Given the description of an element on the screen output the (x, y) to click on. 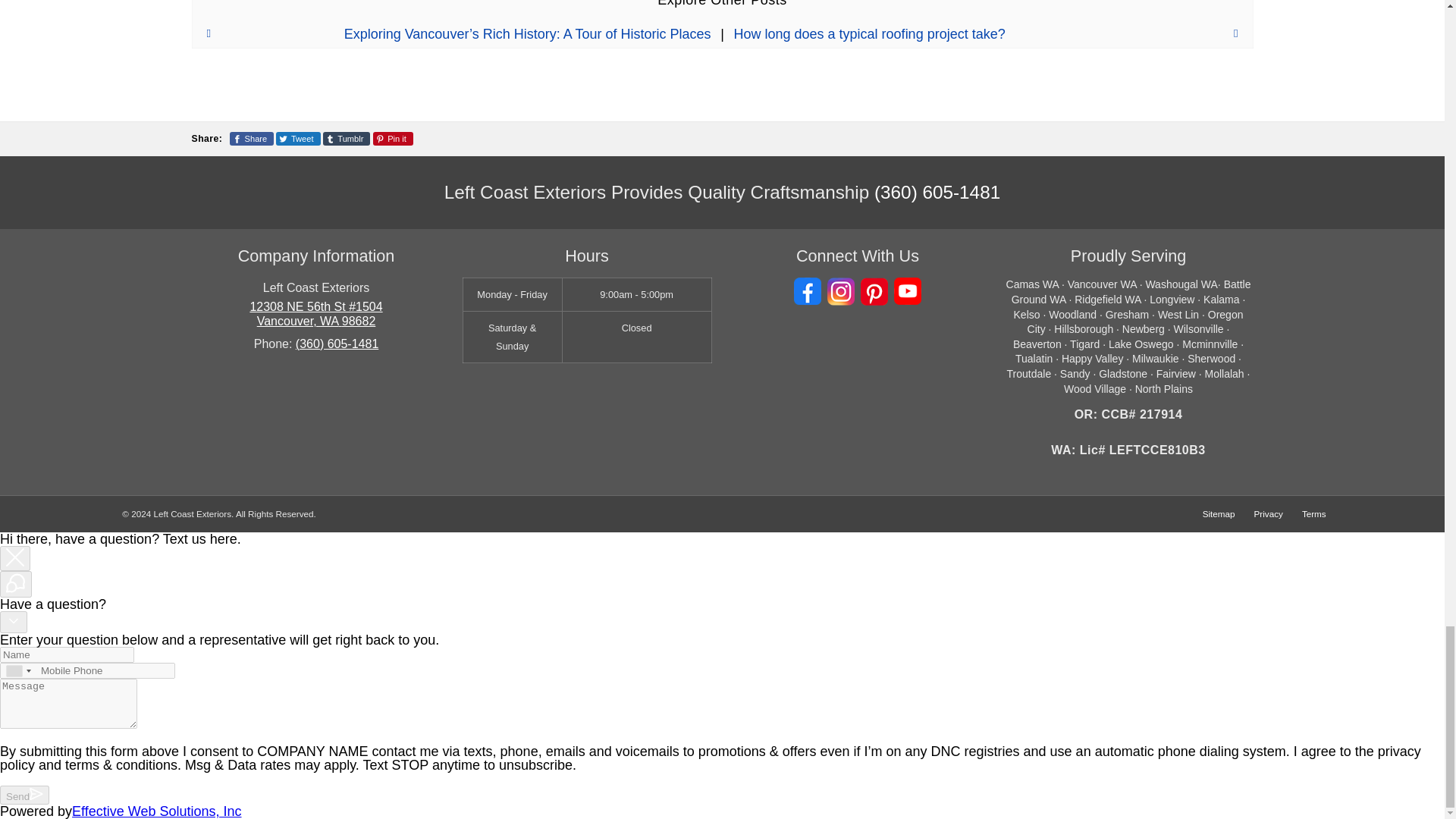
Tweet (298, 138)
Pinterest (874, 291)
Pin it (392, 138)
Sitemap (1218, 513)
Share (251, 138)
Terms (1313, 513)
YouTube (907, 291)
Facebook (807, 291)
How long does a typical roofing project take? (993, 33)
Instagram (840, 291)
Privacy (1267, 513)
Tumblr (347, 138)
